Given the description of an element on the screen output the (x, y) to click on. 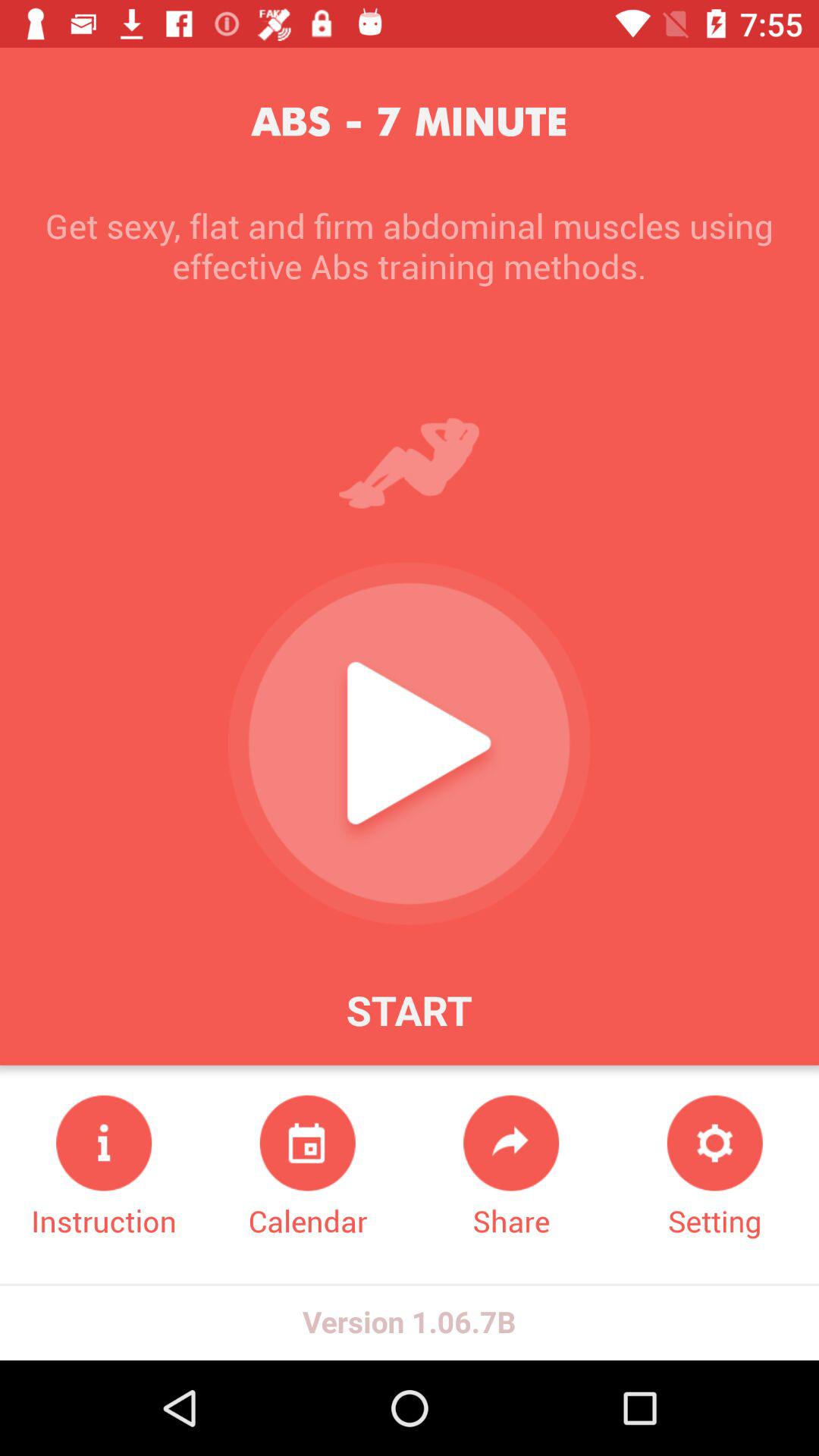
open icon next to the share (307, 1168)
